Given the description of an element on the screen output the (x, y) to click on. 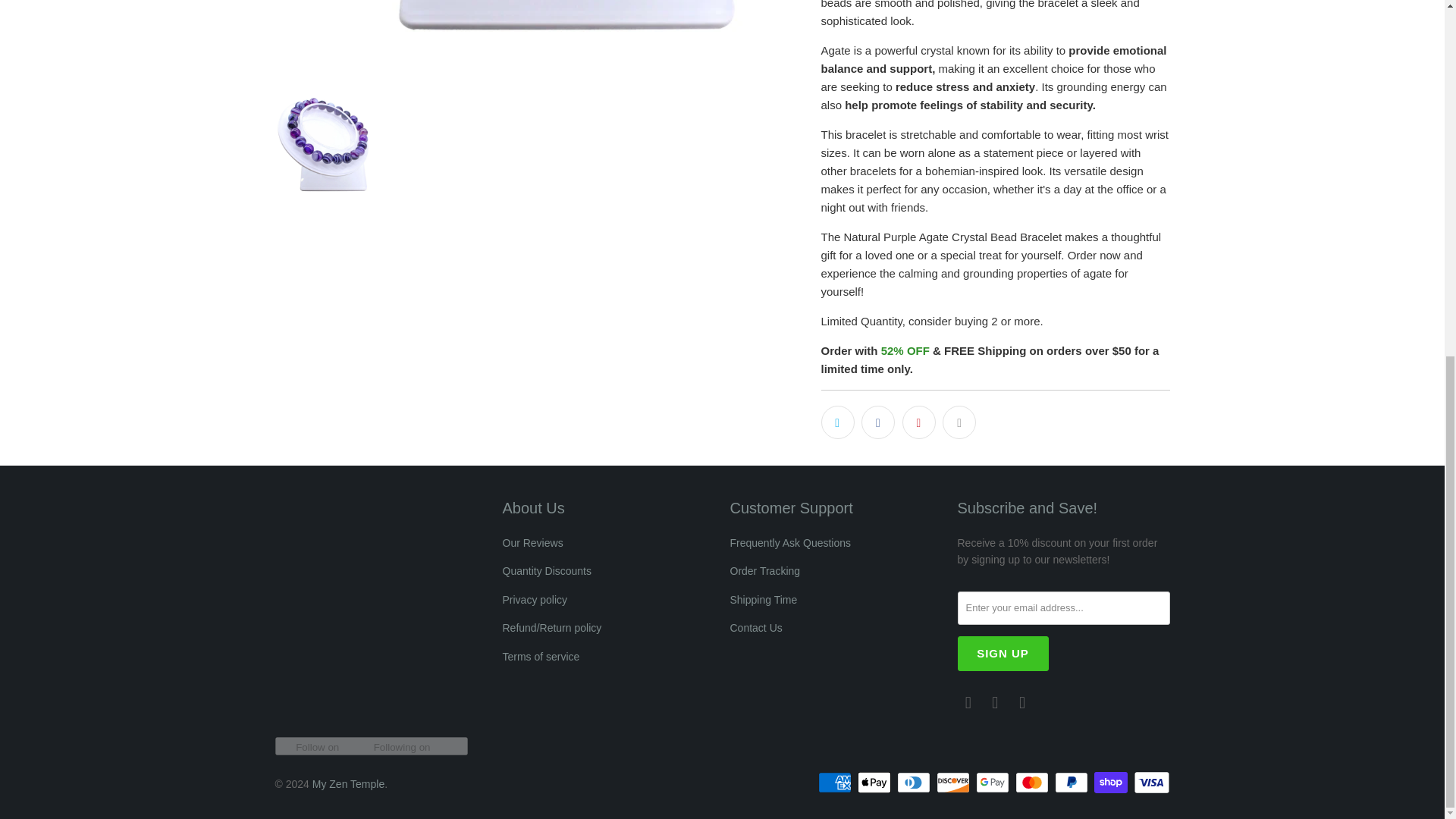
Discover (954, 782)
Sign Up (1002, 653)
Share this on Facebook (878, 421)
Share this on Twitter (837, 421)
Email My Zen Temple (967, 702)
Google Pay (993, 782)
Mastercard (1032, 782)
PayPal (1072, 782)
Apple Pay (875, 782)
My Zen Temple on Instagram (1022, 702)
Share this on Pinterest (919, 421)
My Zen Temple on Facebook (995, 702)
Shop Pay (1112, 782)
Email this to a friend (958, 421)
American Express (836, 782)
